Given the description of an element on the screen output the (x, y) to click on. 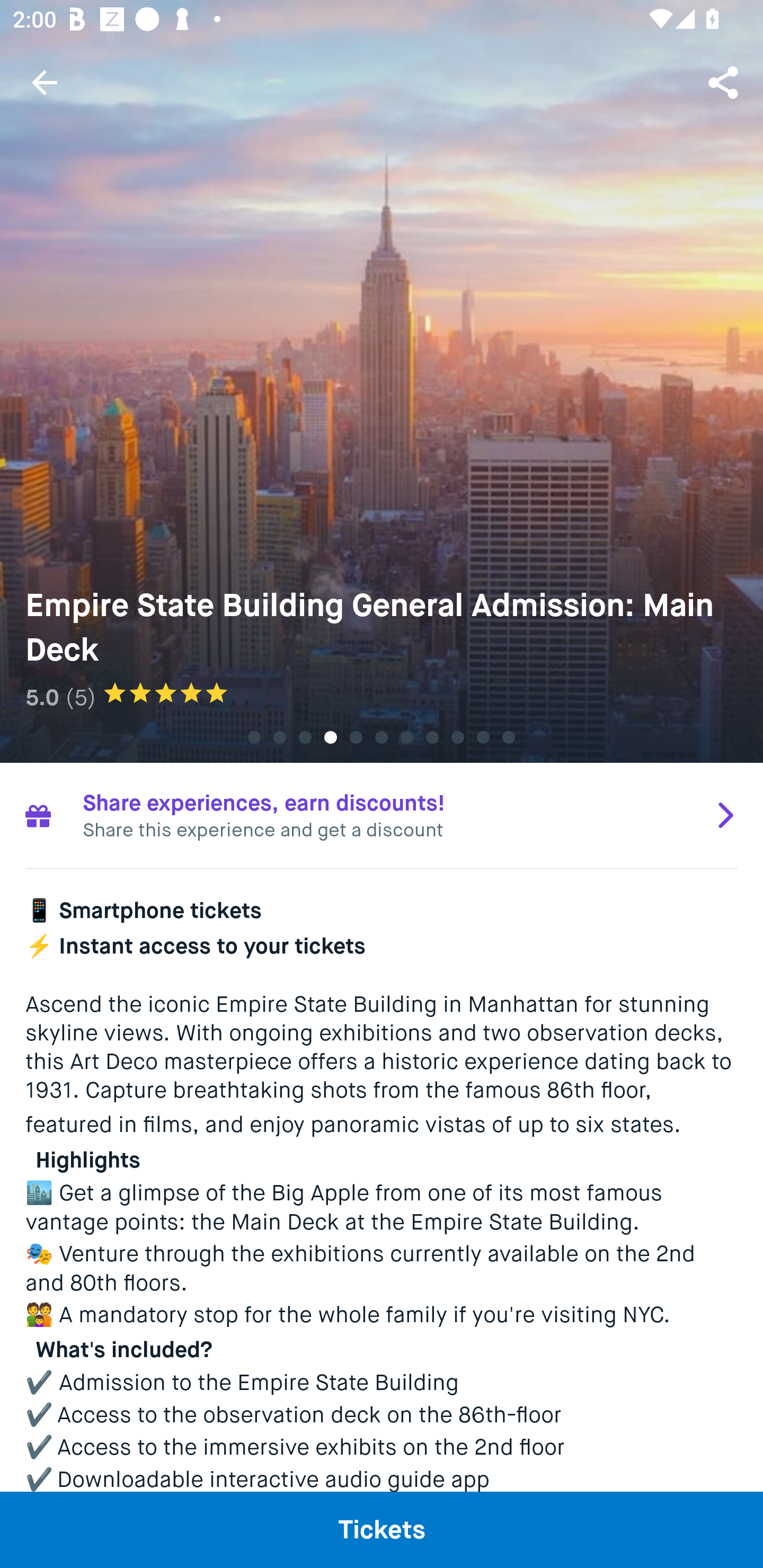
Navigate up (44, 82)
Share (724, 81)
(5) (80, 697)
Tickets (381, 1529)
